Given the description of an element on the screen output the (x, y) to click on. 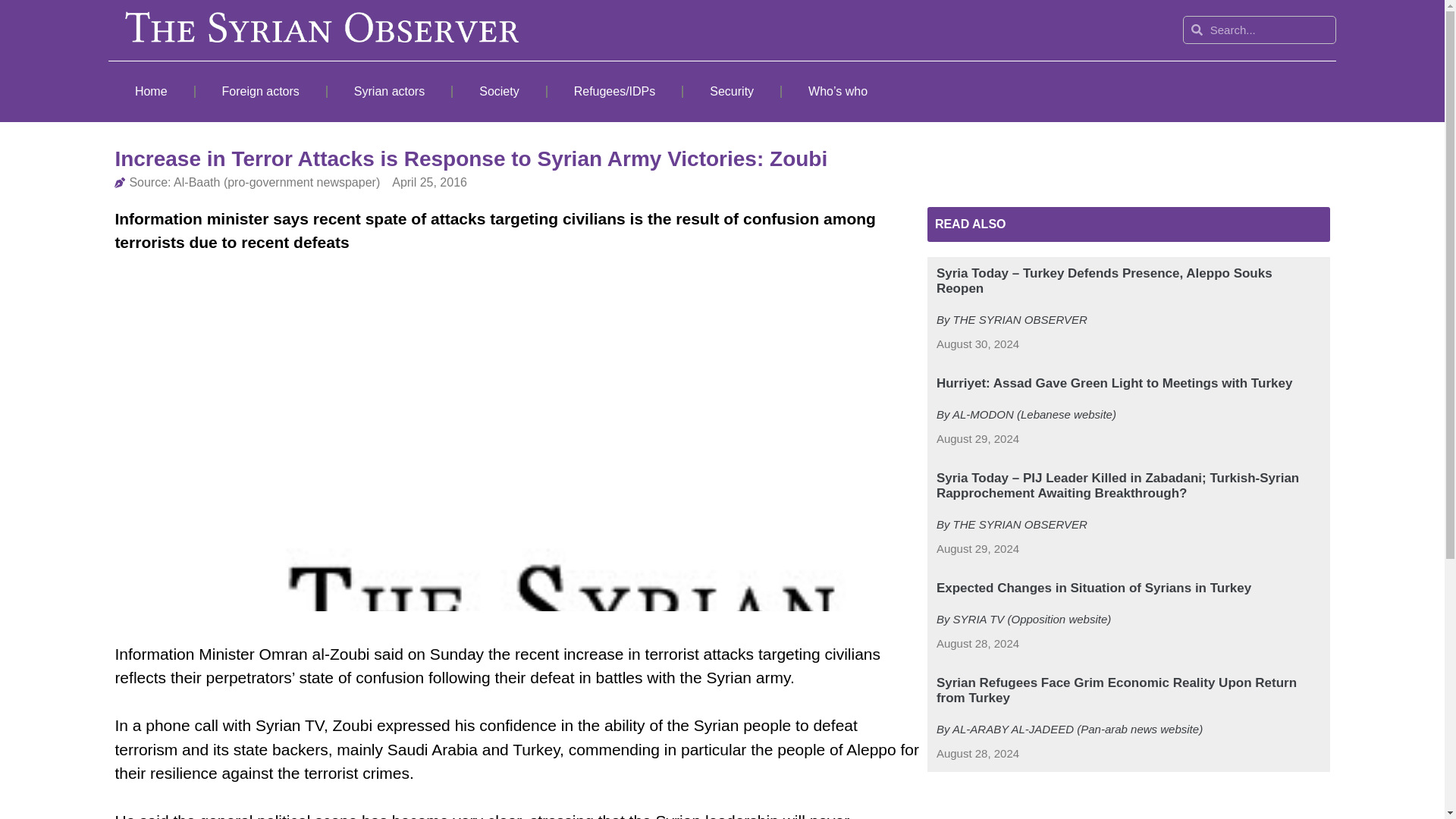
Syrian actors (389, 91)
Foreign actors (260, 91)
August 29, 2024 (977, 548)
August 28, 2024 (977, 643)
August 30, 2024 (977, 343)
Hurriyet: Assad Gave Green Light to Meetings with Turkey (1114, 382)
Home (150, 91)
August 28, 2024 (977, 753)
Society (498, 91)
